Given the description of an element on the screen output the (x, y) to click on. 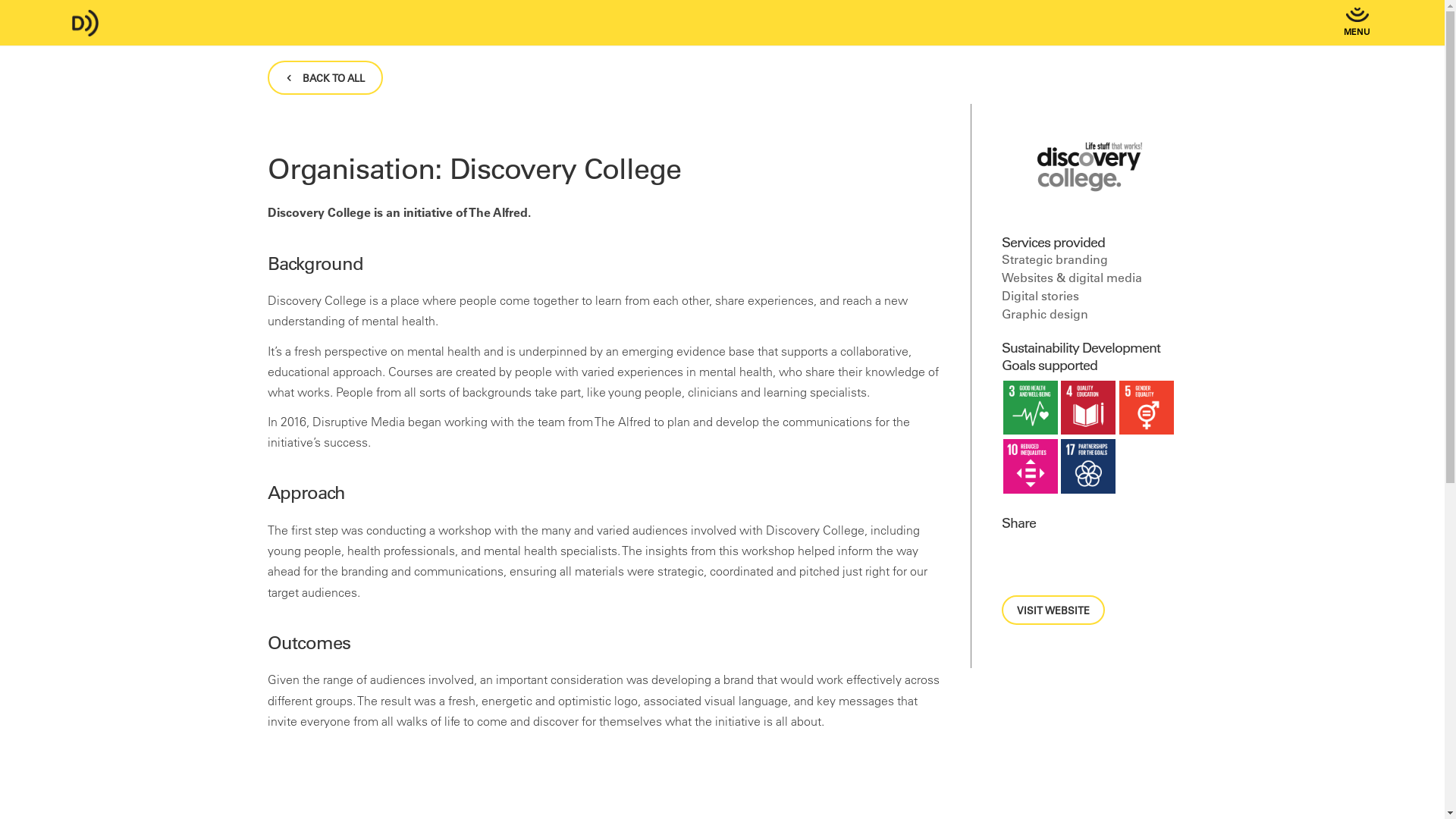
BACK TO ALL Element type: text (324, 77)
VISIT WEBSITE Element type: text (1052, 609)
